Given the description of an element on the screen output the (x, y) to click on. 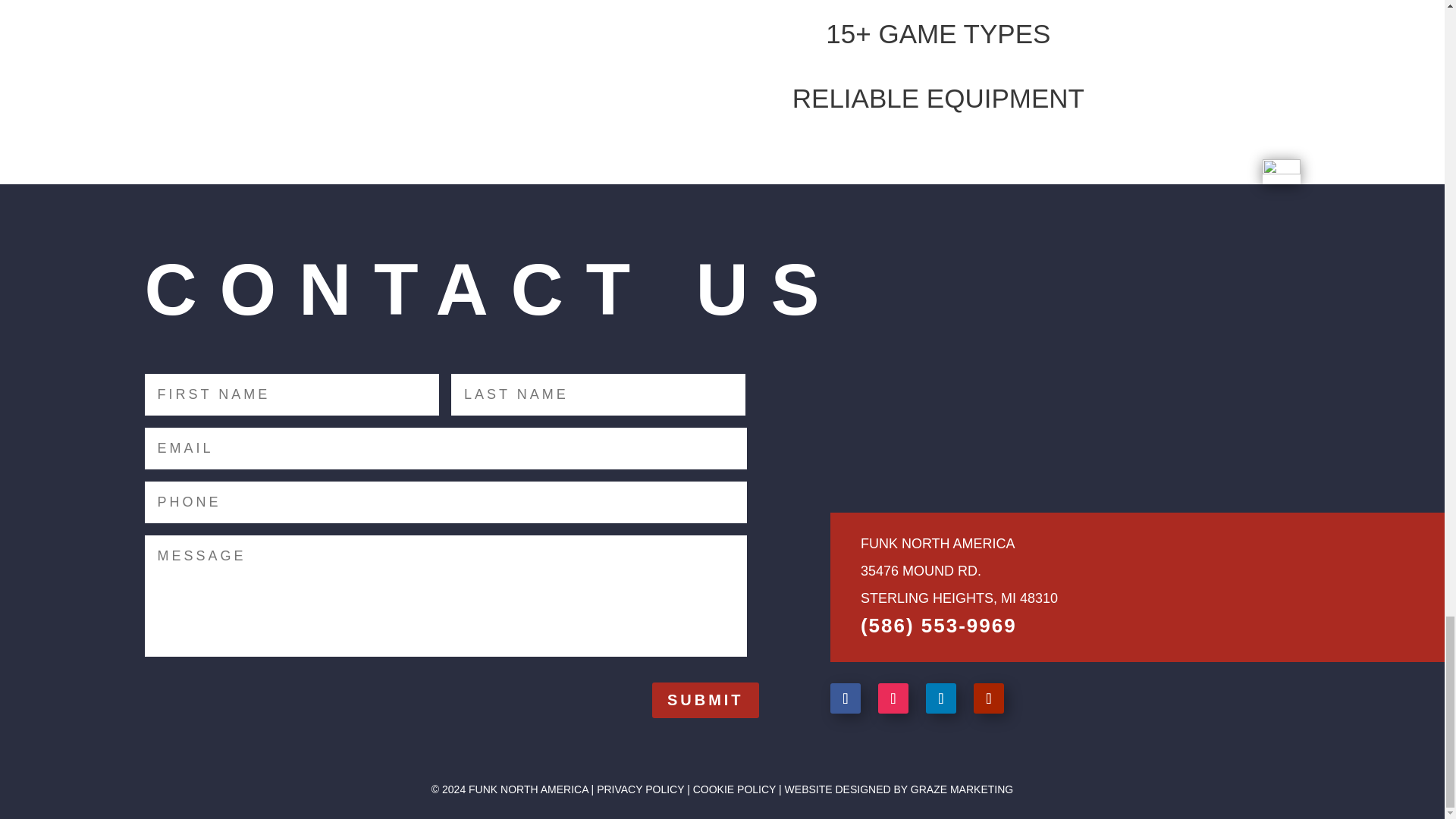
SUBMIT (705, 700)
Follow on LinkedIn (941, 698)
Follow on Facebook (844, 698)
Follow on Instagram (892, 698)
german-flag-funk-germany-website-50px (1281, 171)
Funk-Bowling-Signature-White-Bowling-Center-Equipment228x86 (950, 419)
